Given the description of an element on the screen output the (x, y) to click on. 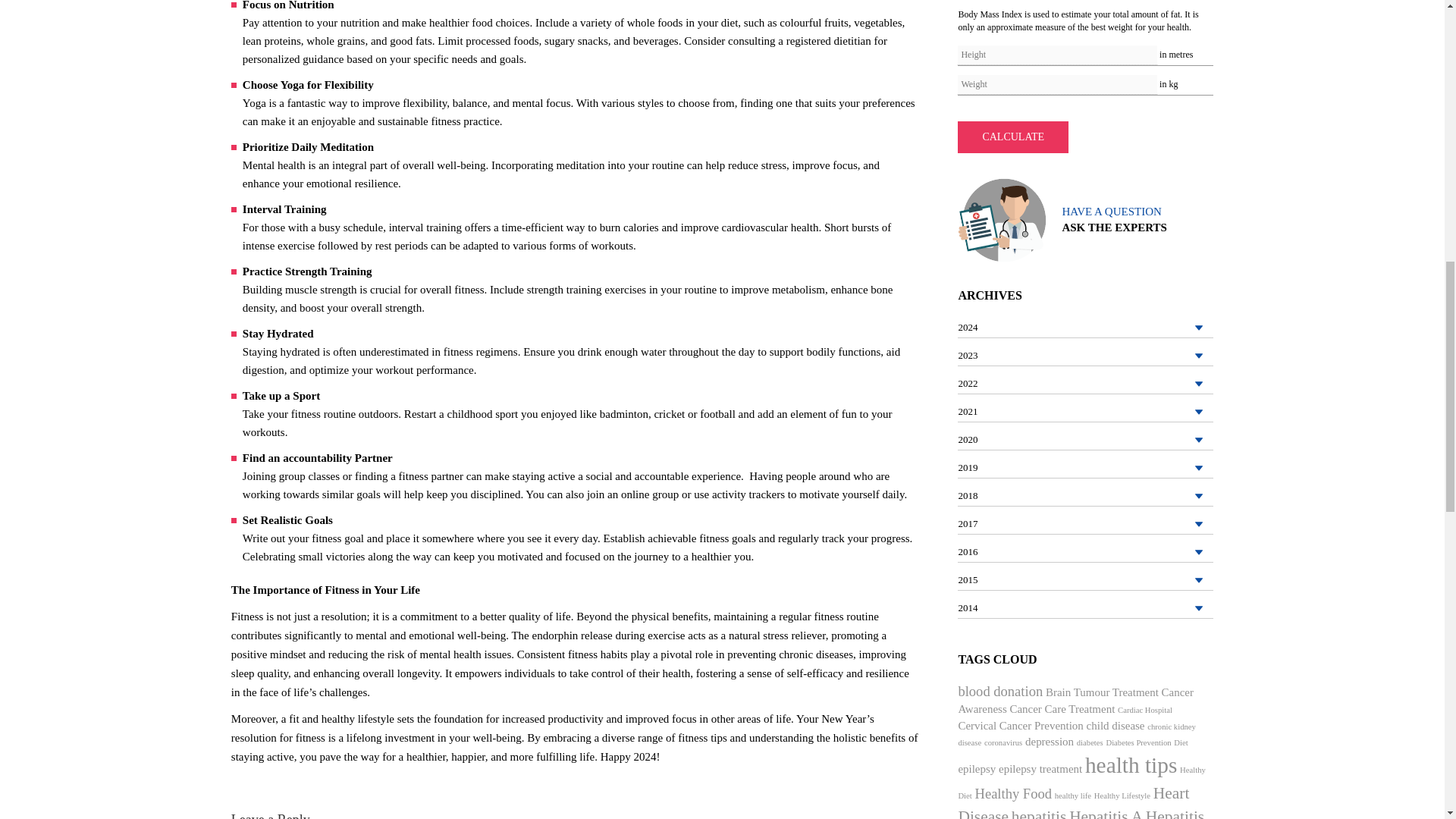
Calculate my BMI (1013, 137)
Calculate (1013, 137)
